Given the description of an element on the screen output the (x, y) to click on. 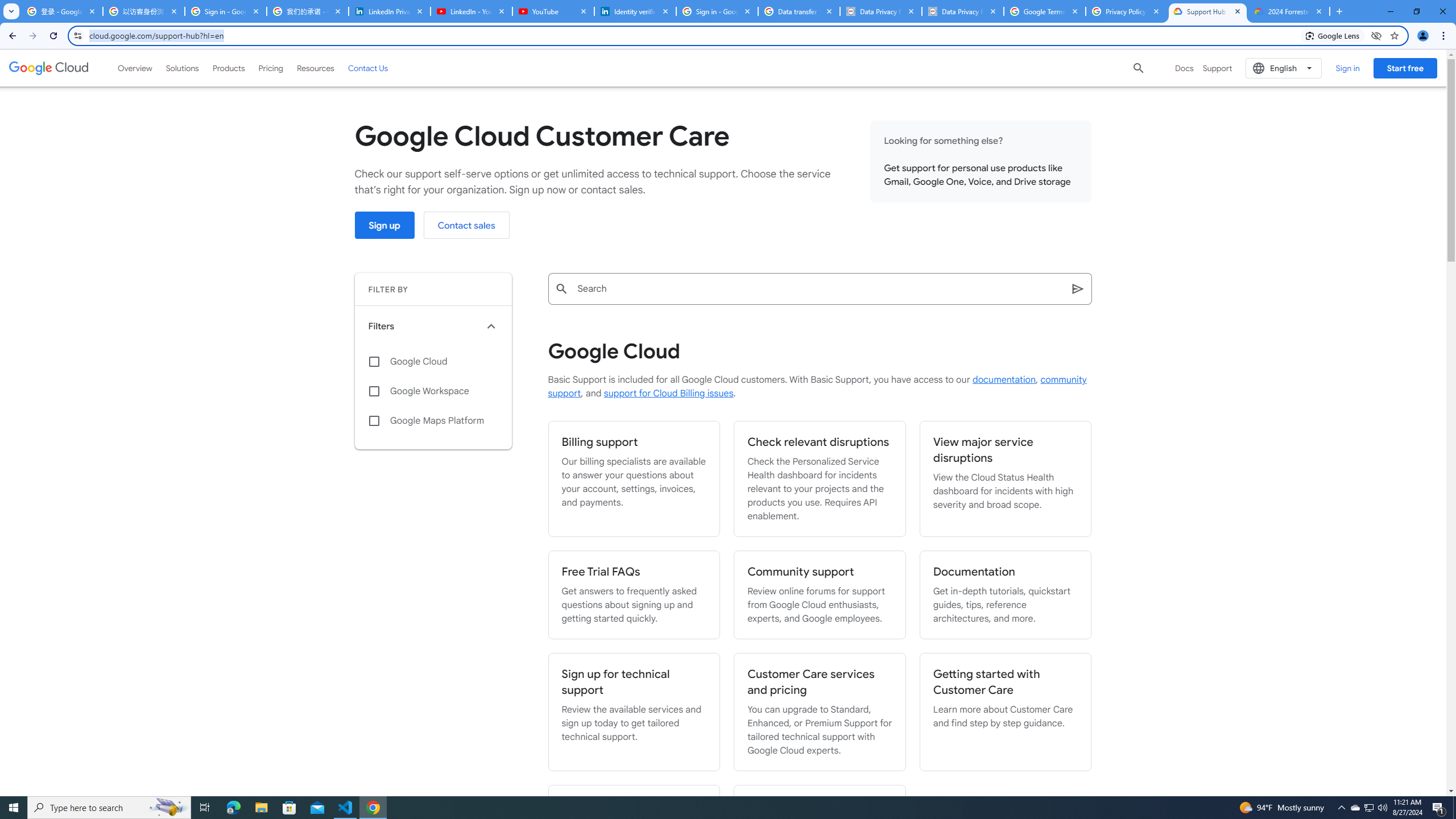
Sign up (383, 225)
Search with Google Lens (1332, 35)
Sign in - Google Accounts (225, 11)
Pricing (270, 67)
documentation (1004, 379)
Support (1216, 67)
LinkedIn - YouTube (470, 11)
Contact Us (368, 67)
